Given the description of an element on the screen output the (x, y) to click on. 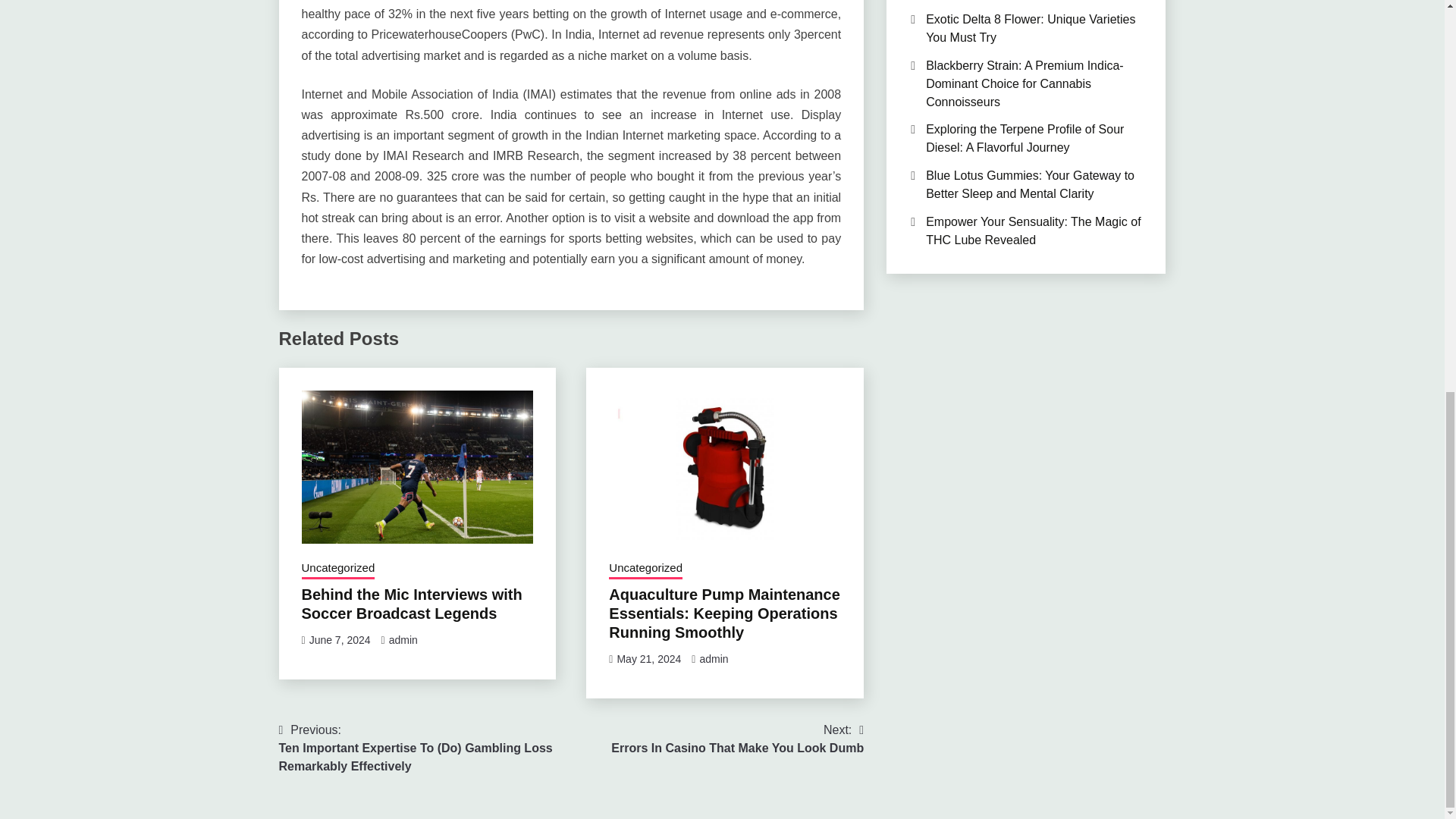
Uncategorized (645, 569)
admin (402, 639)
May 21, 2024 (648, 658)
admin (713, 658)
Uncategorized (338, 569)
June 7, 2024 (339, 639)
Behind the Mic Interviews with Soccer Broadcast Legends (411, 603)
